Given the description of an element on the screen output the (x, y) to click on. 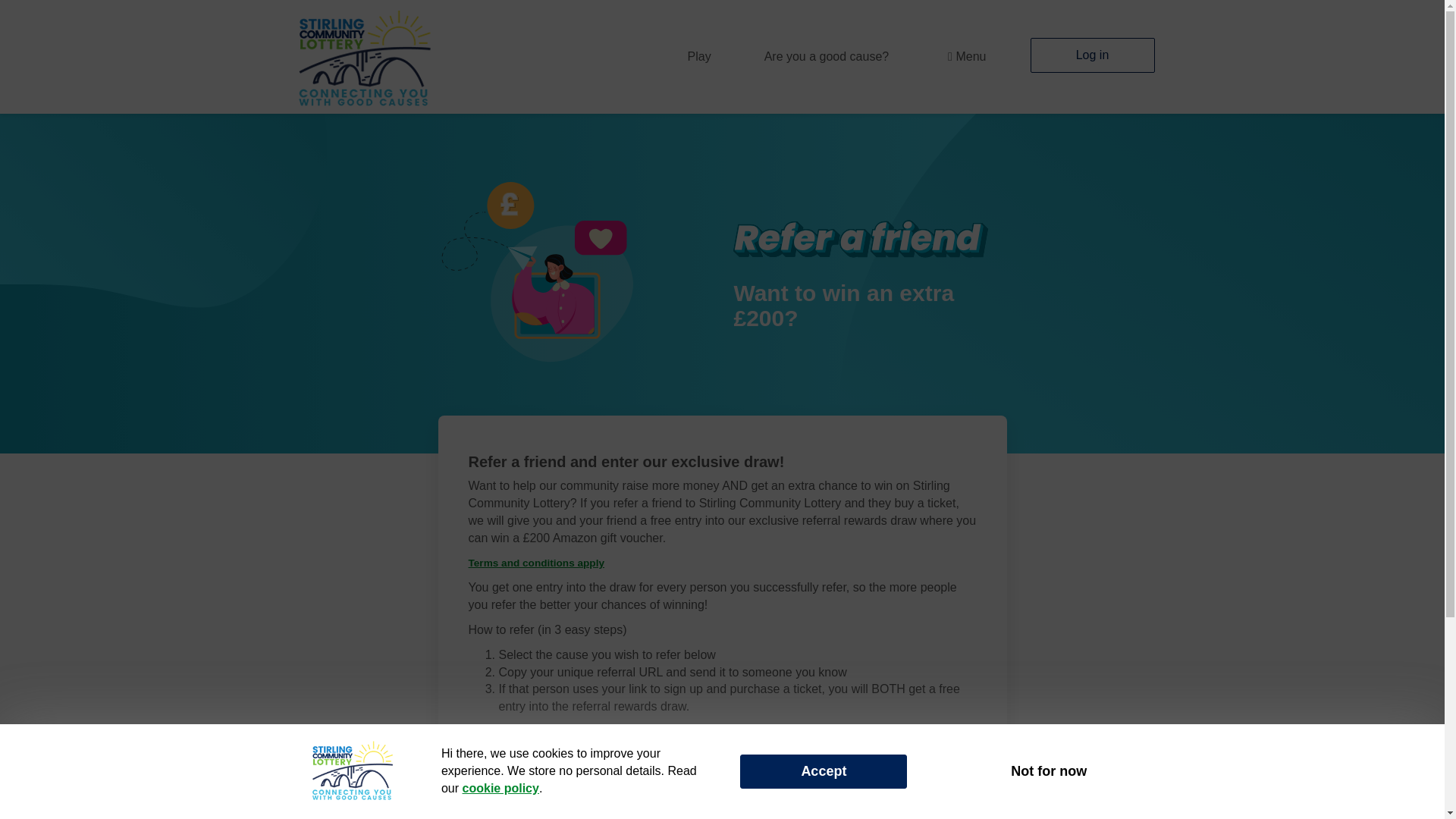
Not for now (1048, 770)
Play (699, 56)
Menu (963, 56)
To get your referral links please login (586, 764)
Log in (1091, 54)
Are you a good cause? (826, 56)
cookie policy (500, 788)
Accept (823, 770)
Terms and conditions apply (536, 563)
